Given the description of an element on the screen output the (x, y) to click on. 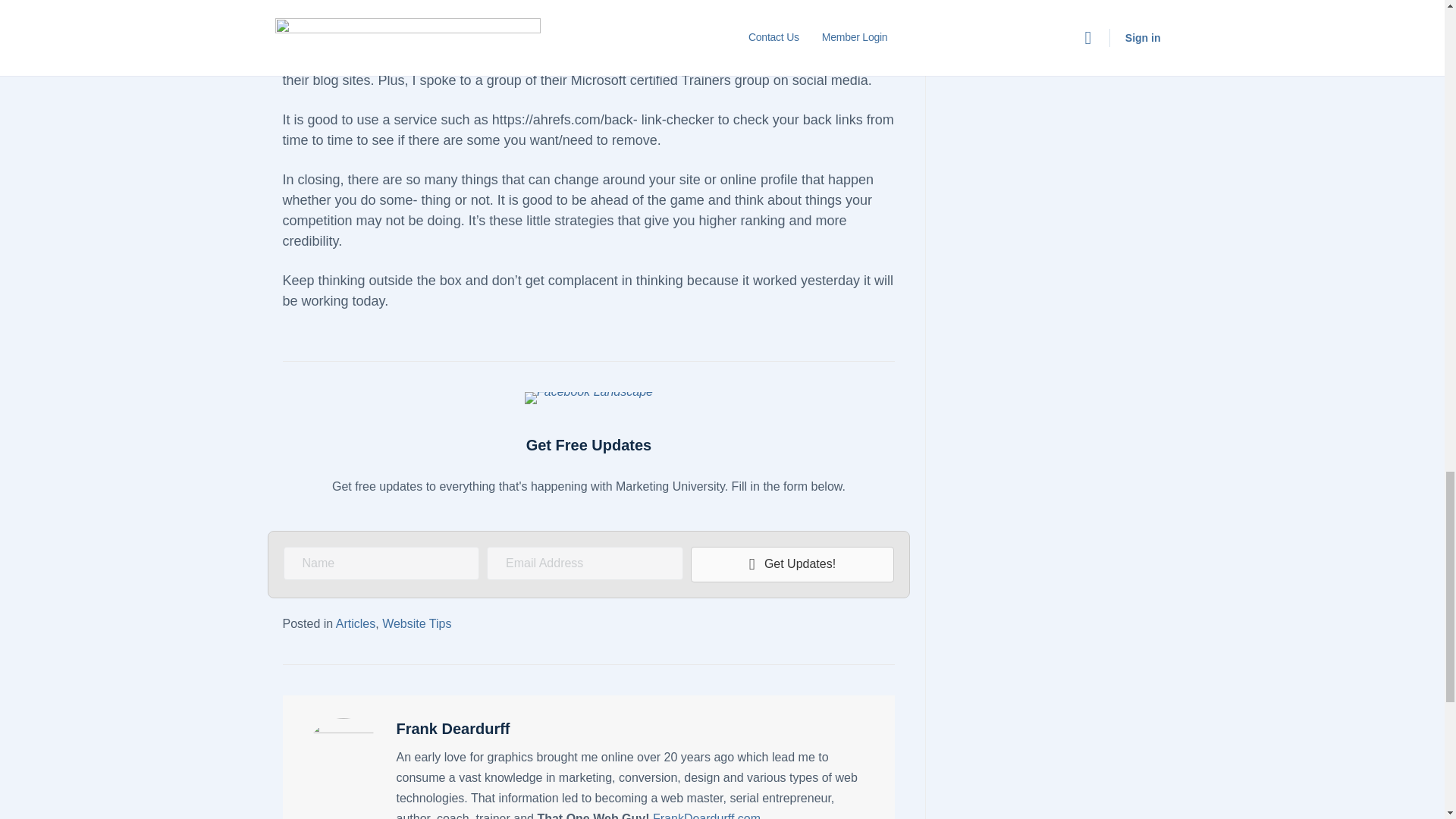
FrankDeardurff.com (706, 815)
Articles (355, 623)
Website Tips (416, 623)
Facebook Landscape (588, 398)
Get Updates! (792, 564)
